Given the description of an element on the screen output the (x, y) to click on. 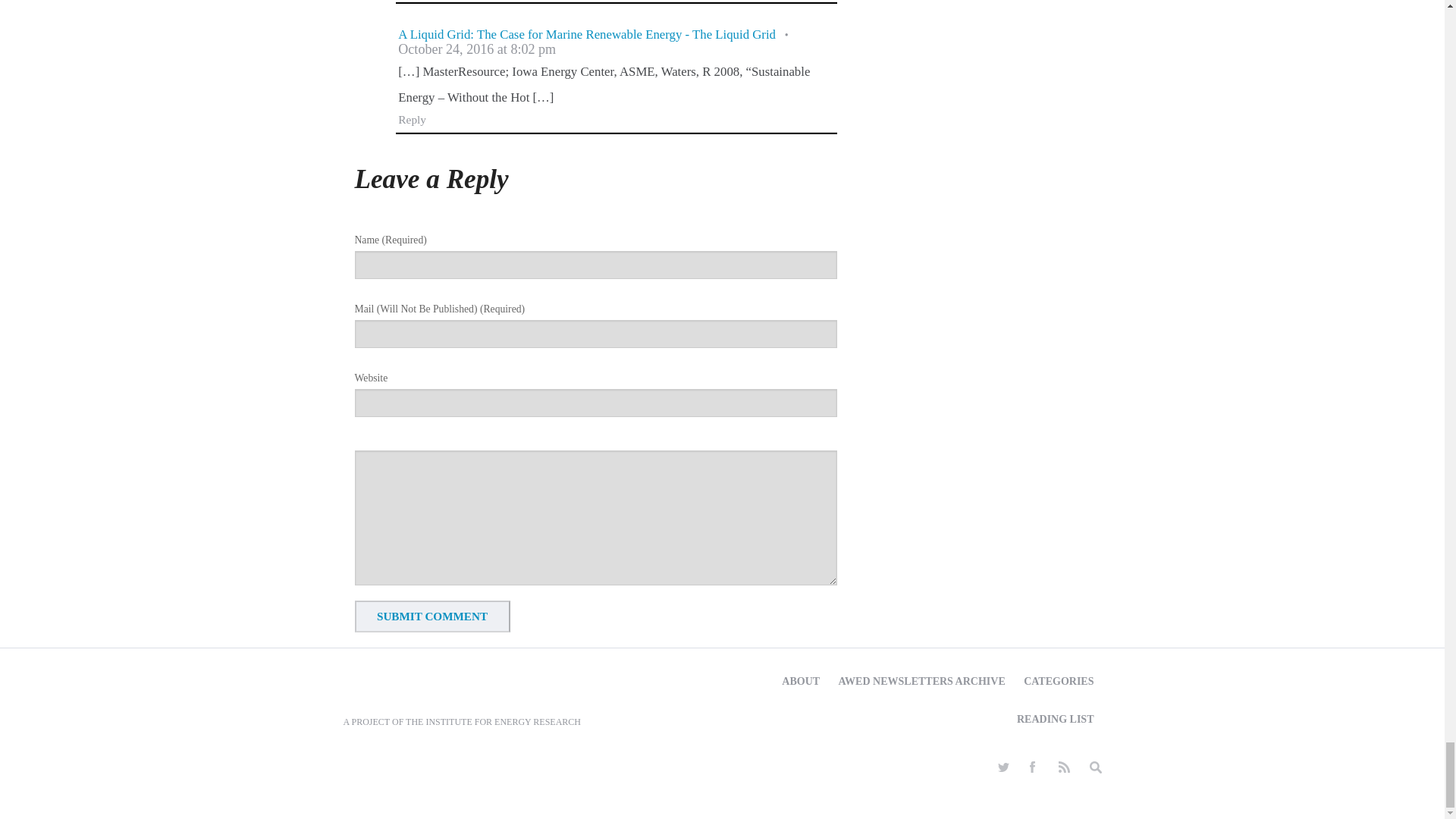
Submit Comment (433, 616)
